Given the description of an element on the screen output the (x, y) to click on. 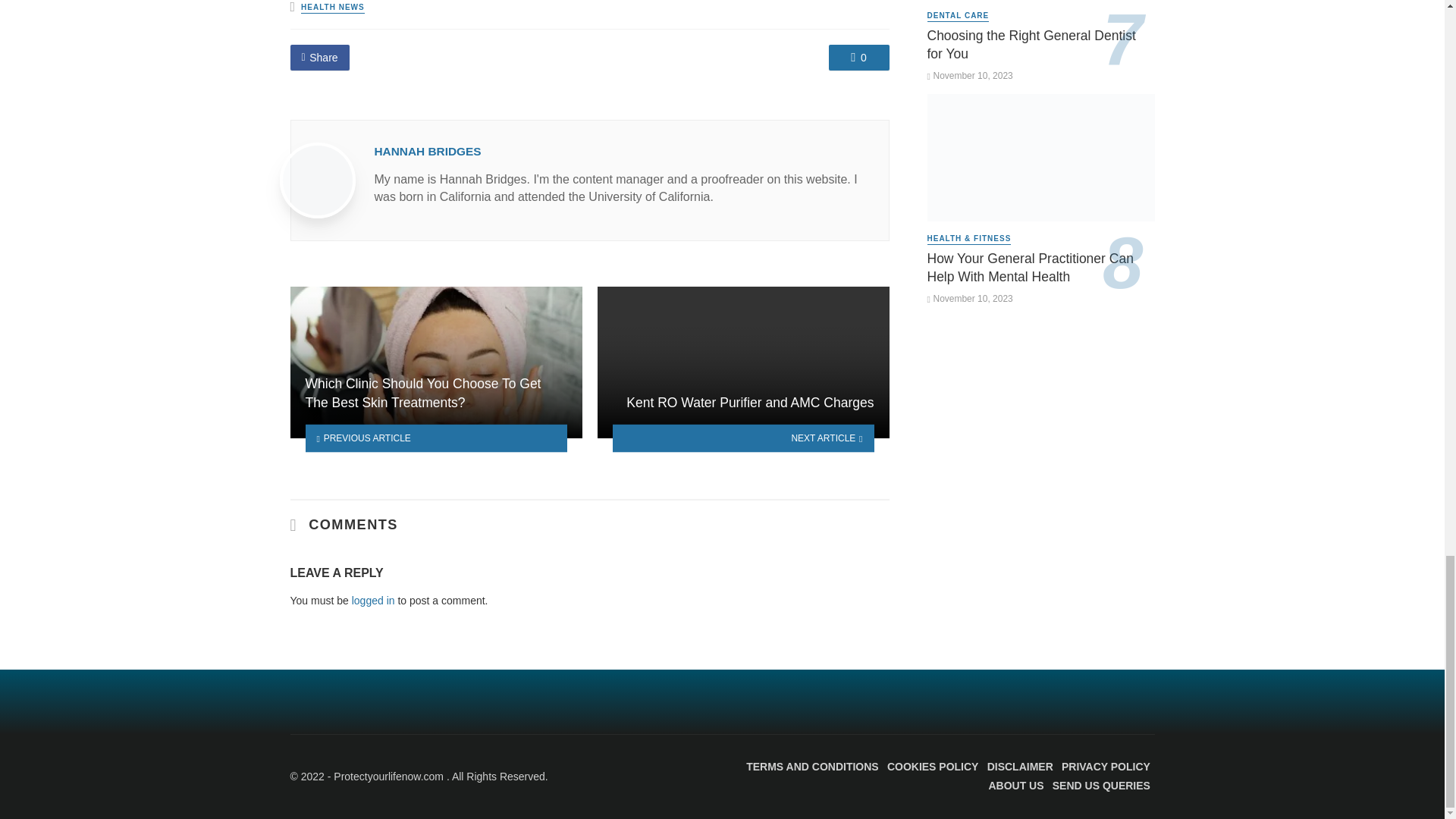
Share on Facebook (319, 57)
0 (858, 57)
logged in (373, 600)
HANNAH BRIDGES (427, 151)
NEXT ARTICLE (742, 438)
0 Comments (858, 57)
HEALTH NEWS (333, 7)
Share (319, 57)
Posts by Hannah Bridges (427, 151)
PREVIOUS ARTICLE (434, 438)
